Given the description of an element on the screen output the (x, y) to click on. 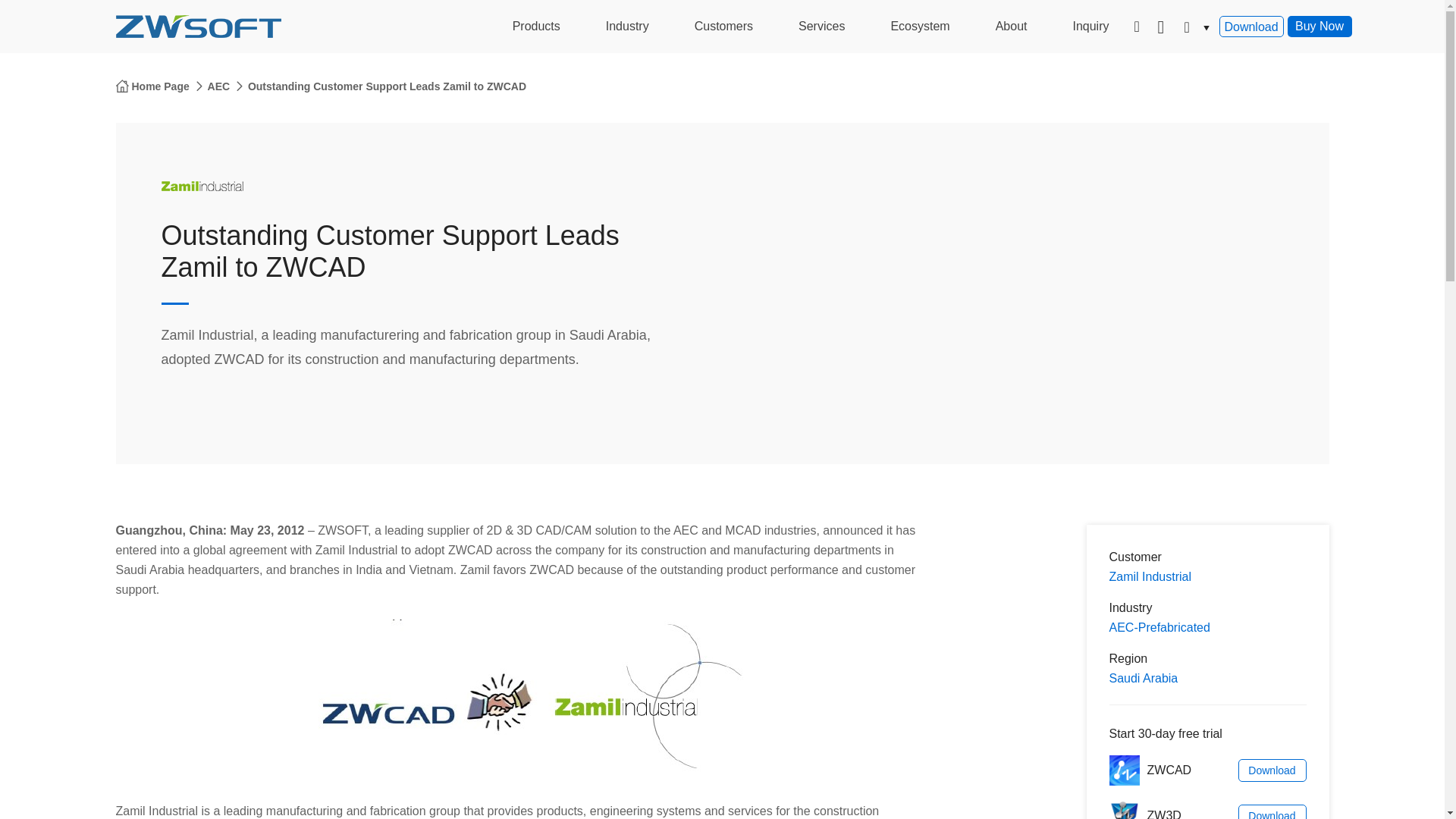
Products (536, 26)
Zamil Industrial (201, 185)
Ecosystem (919, 26)
ZWCAD 2025 (1123, 770)
Customers (723, 26)
cad software (198, 26)
Services (821, 26)
ZW3D 2025 (1123, 809)
About (1010, 26)
Industry (627, 26)
